Given the description of an element on the screen output the (x, y) to click on. 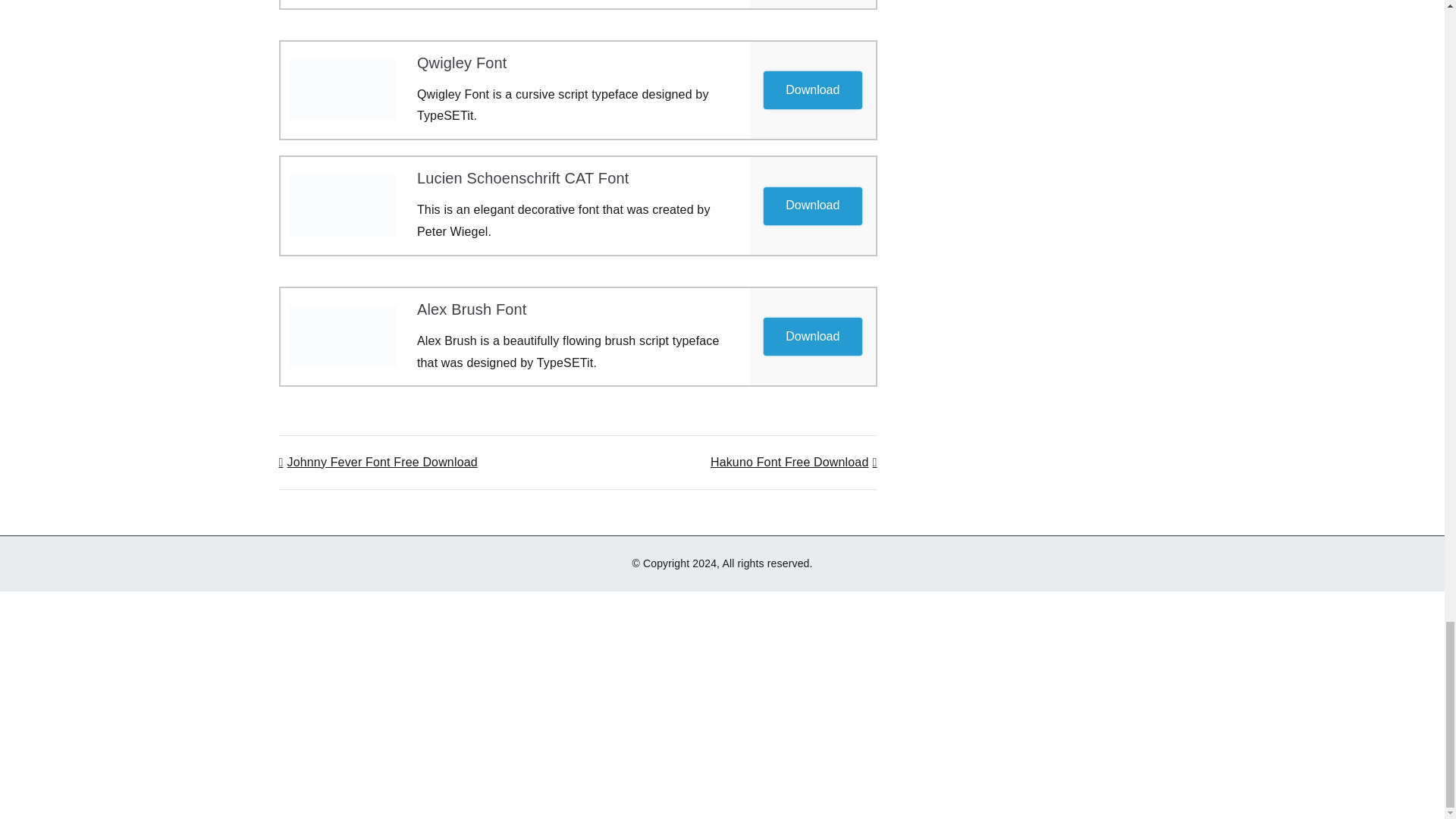
Download (813, 205)
Hakuno Font Free Download (793, 461)
Download (811, 336)
Download (813, 89)
Download (813, 336)
Johnny Fever Font Free Download (378, 461)
Download (811, 205)
Download (811, 89)
